Given the description of an element on the screen output the (x, y) to click on. 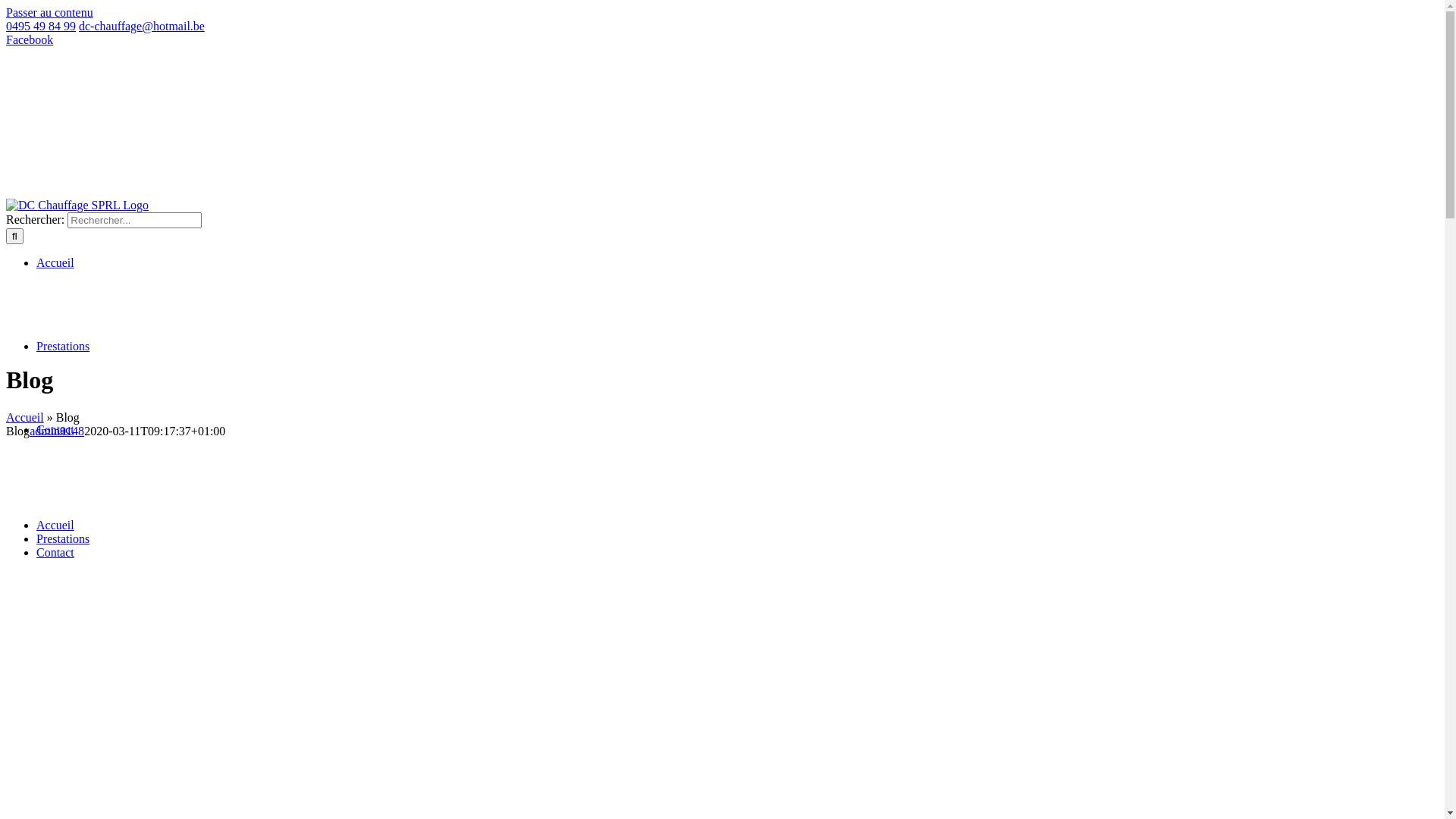
Accueil Element type: text (55, 297)
Facebook Element type: text (29, 39)
Accueil Element type: text (24, 417)
Contact Element type: text (55, 464)
Accueil Element type: text (55, 524)
admin9148 Element type: text (56, 430)
Passer au contenu Element type: text (49, 12)
0495 49 84 99 Element type: text (40, 25)
Prestations Element type: text (62, 538)
Prestations Element type: text (62, 381)
Contact Element type: text (55, 552)
dc-chauffage@hotmail.be Element type: text (141, 25)
